Given the description of an element on the screen output the (x, y) to click on. 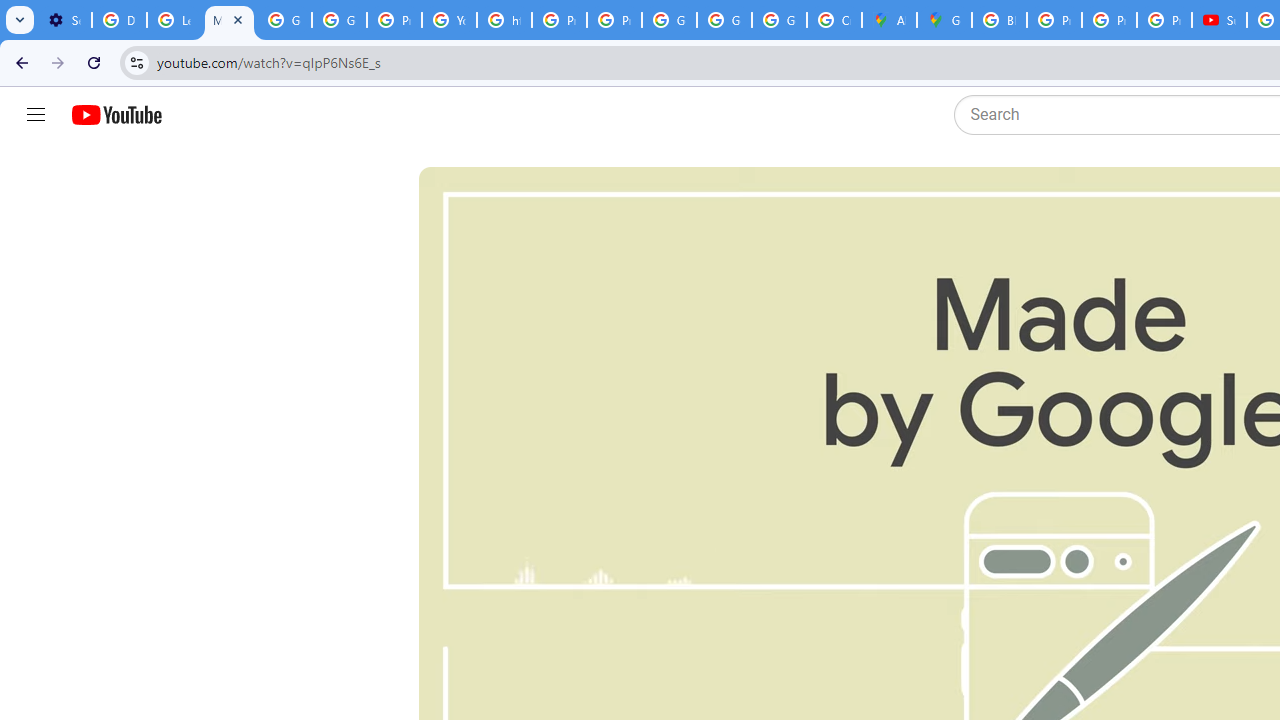
Privacy Help Center - Policies Help (394, 20)
Guide (35, 115)
Delete photos & videos - Computer - Google Photos Help (119, 20)
Google Account Help (284, 20)
Privacy Help Center - Policies Help (1053, 20)
YouTube Home (116, 115)
Create your Google Account (833, 20)
